Given the description of an element on the screen output the (x, y) to click on. 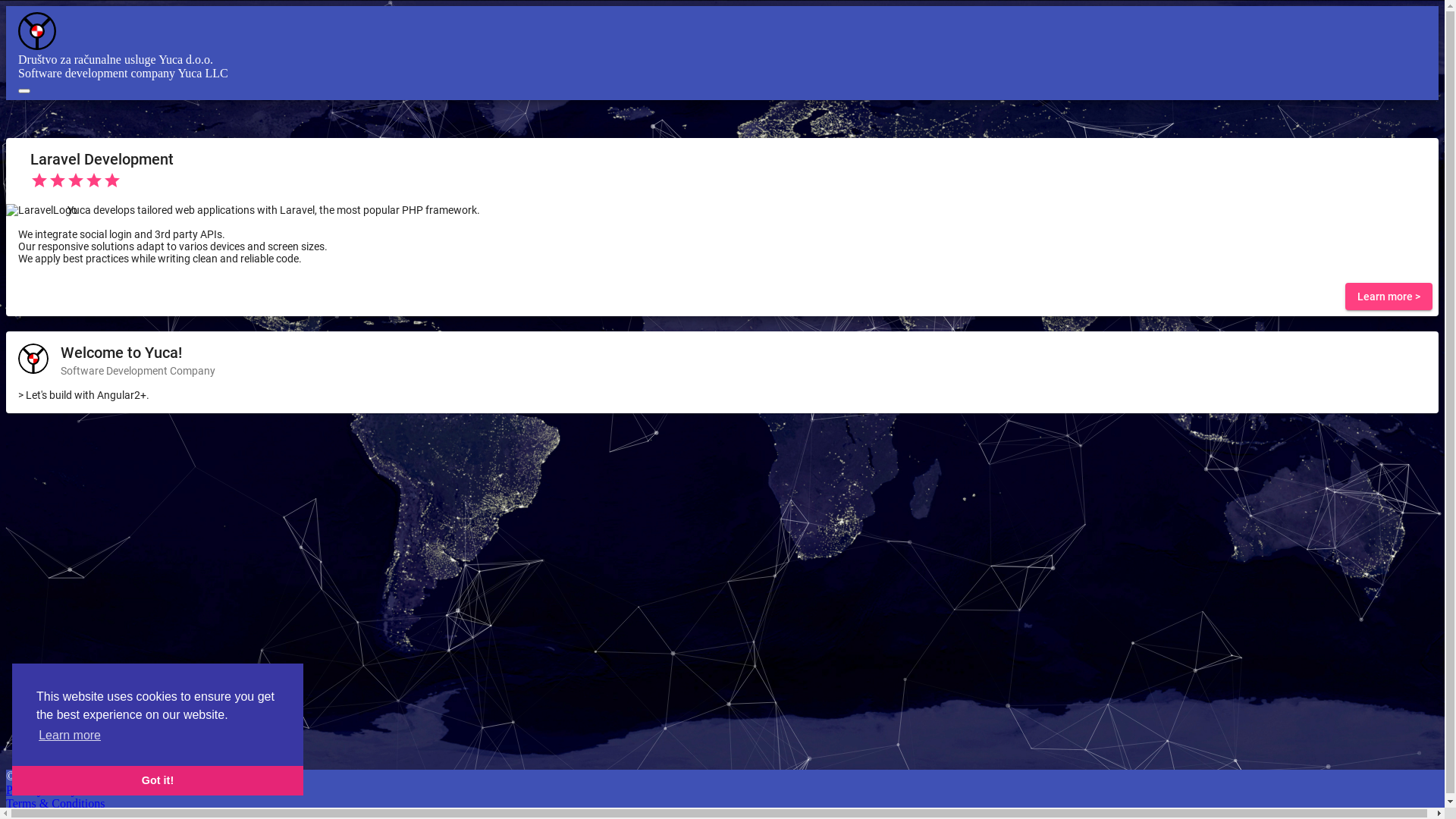
Got it! Element type: text (157, 780)
Terms & Conditions Element type: text (55, 803)
Learn more Element type: text (69, 735)
Learn more > Element type: text (1388, 296)
Privacy Policy Element type: text (41, 789)
